Given the description of an element on the screen output the (x, y) to click on. 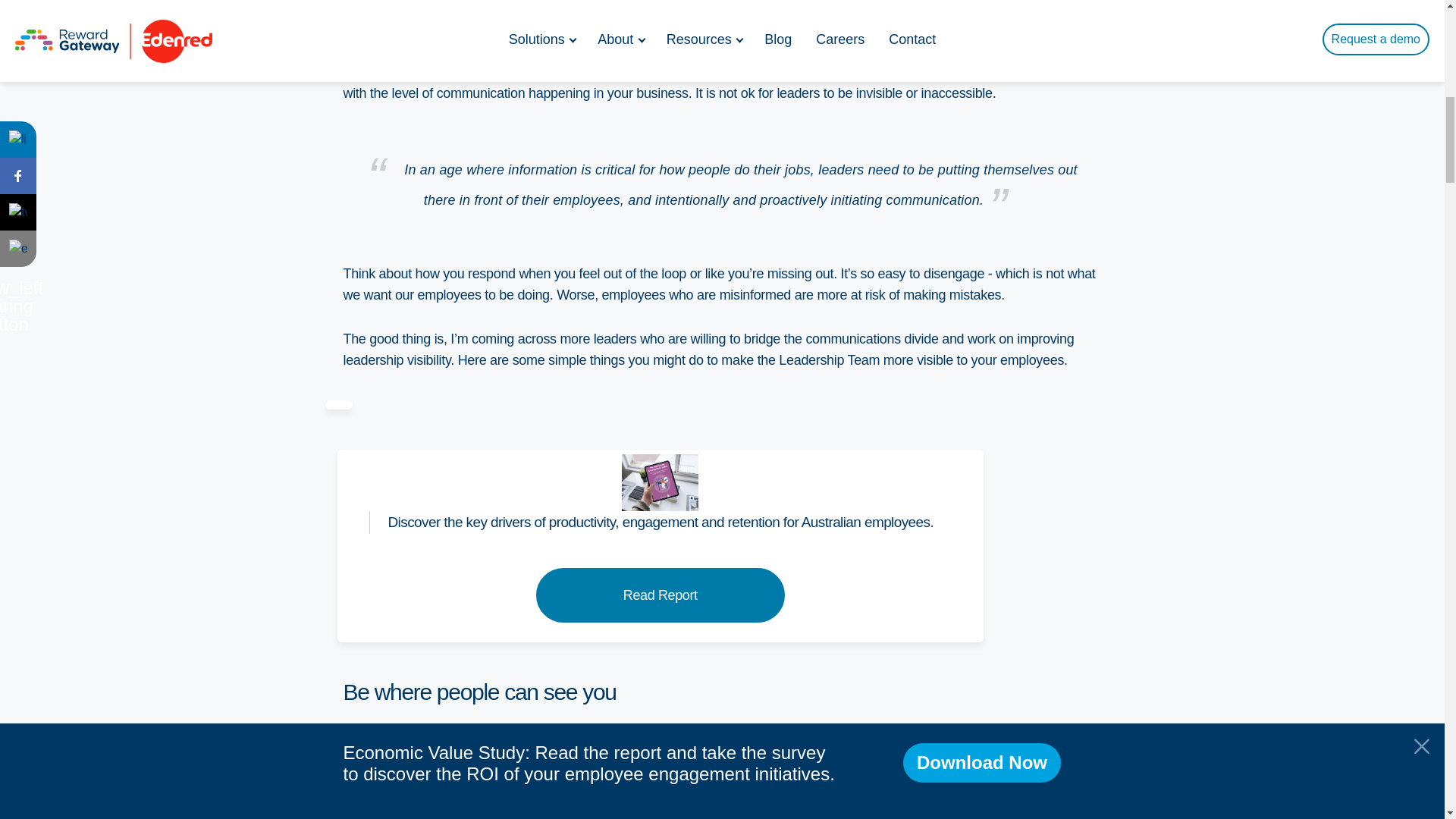
The Workplace Engagement Index (659, 482)
